Given the description of an element on the screen output the (x, y) to click on. 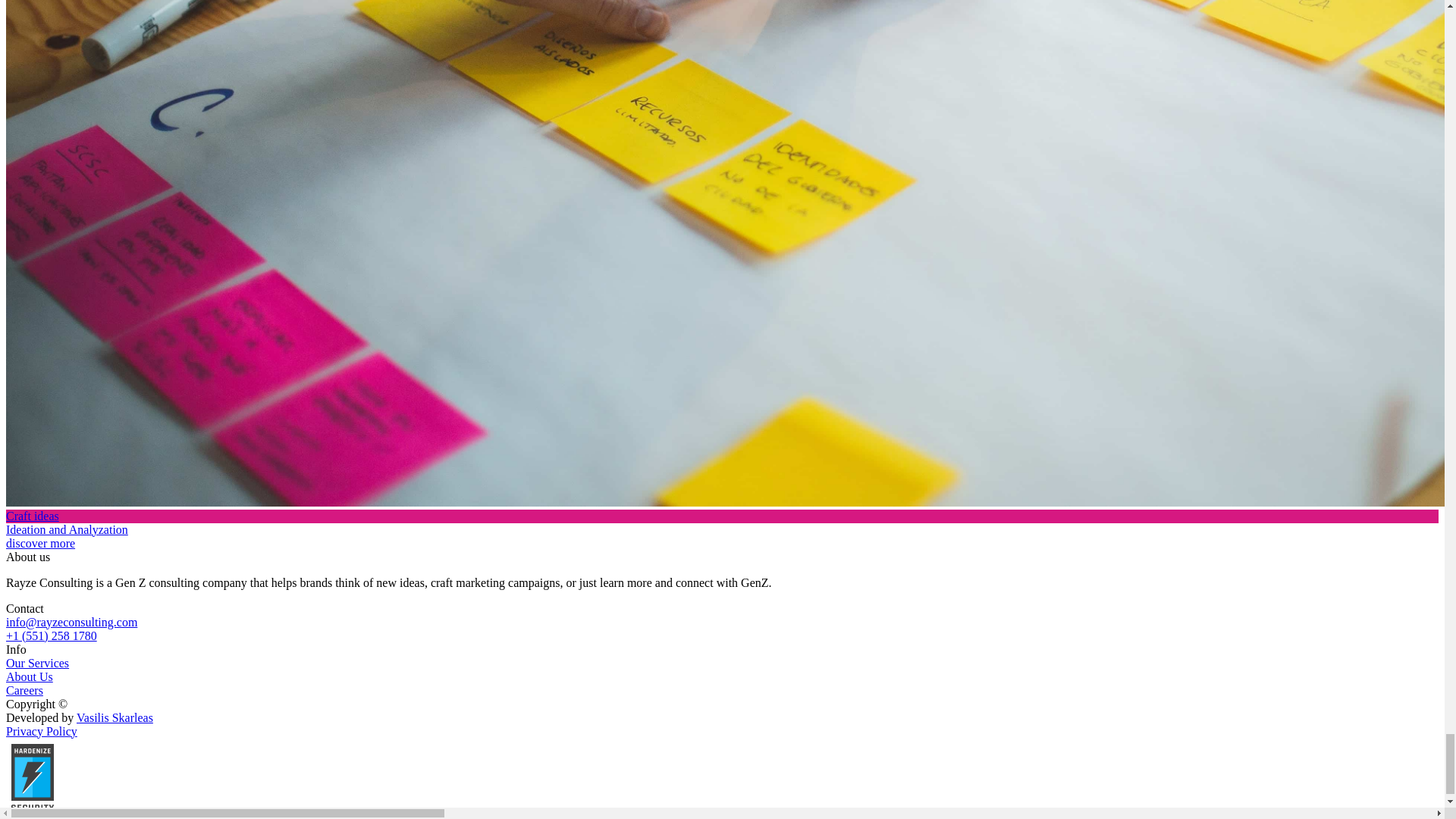
Privacy Policy (41, 730)
Vasilis Skarleas (114, 717)
discover more (730, 516)
